Given the description of an element on the screen output the (x, y) to click on. 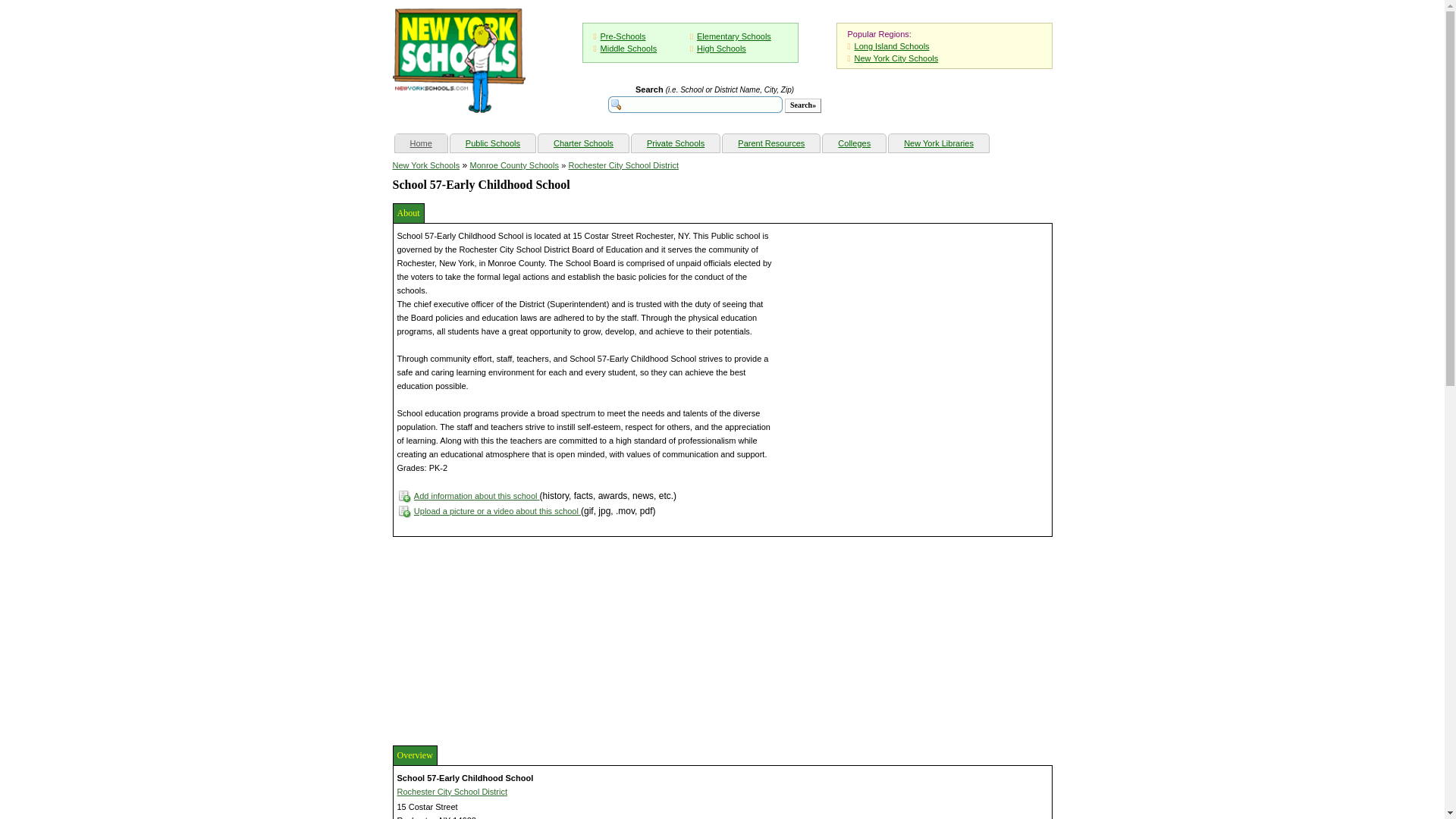
Monroe County Schools (514, 164)
High Schools (721, 48)
Middle Schools (628, 48)
Colleges (853, 143)
New York Libraries (938, 143)
Elementary Schools (734, 35)
Advertisement (506, 638)
Rochester City School District Schools (622, 164)
Rochester City School District (452, 791)
Add information about this school (476, 495)
